Given the description of an element on the screen output the (x, y) to click on. 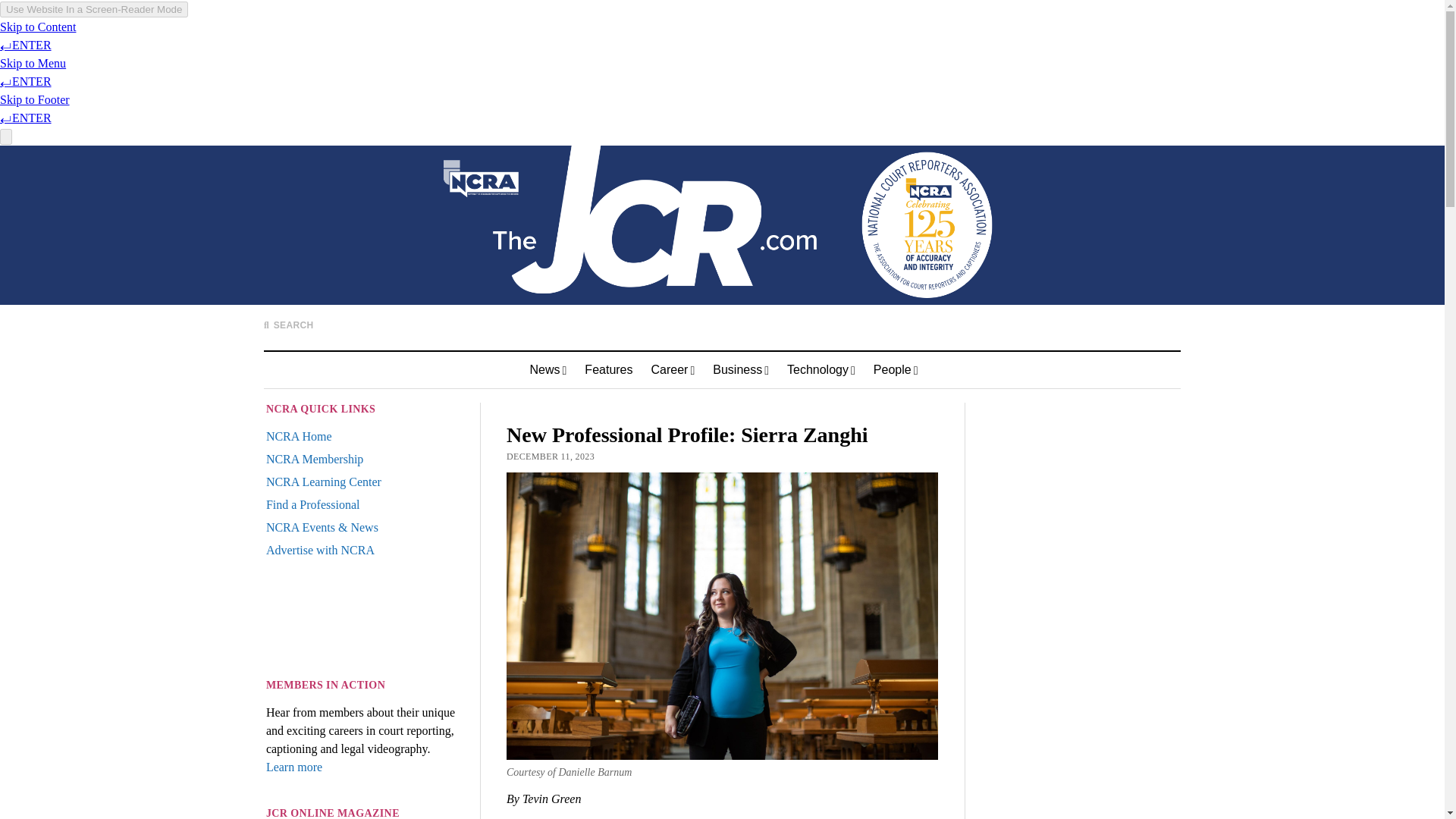
Technology (820, 370)
Career (672, 370)
SEARCH (288, 325)
Business (740, 370)
Features (608, 370)
Search (942, 149)
News (547, 370)
